Given the description of an element on the screen output the (x, y) to click on. 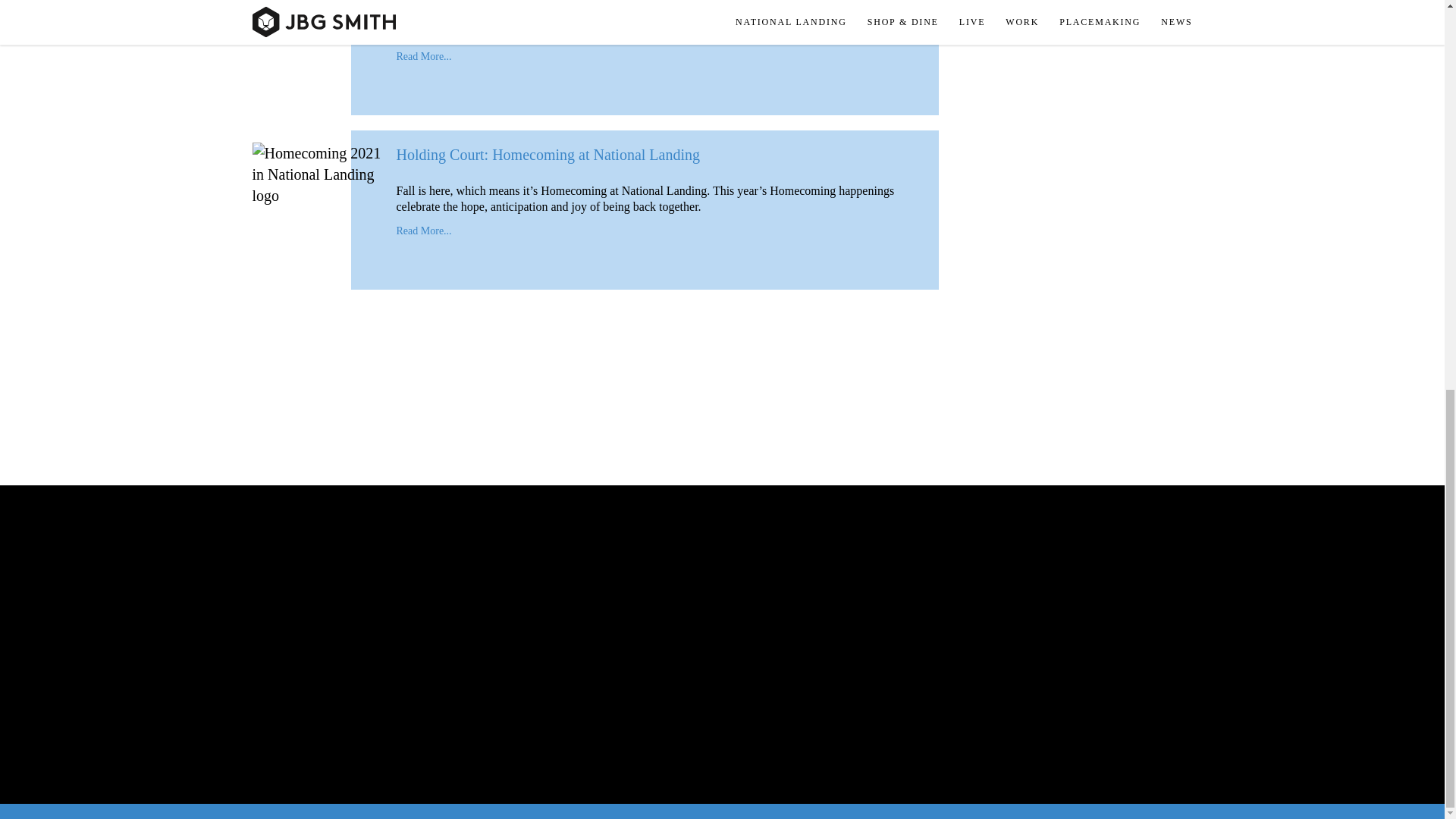
Read More... (423, 56)
Read More... (423, 230)
Holding Court: Homecoming at National Landing (548, 154)
